Given the description of an element on the screen output the (x, y) to click on. 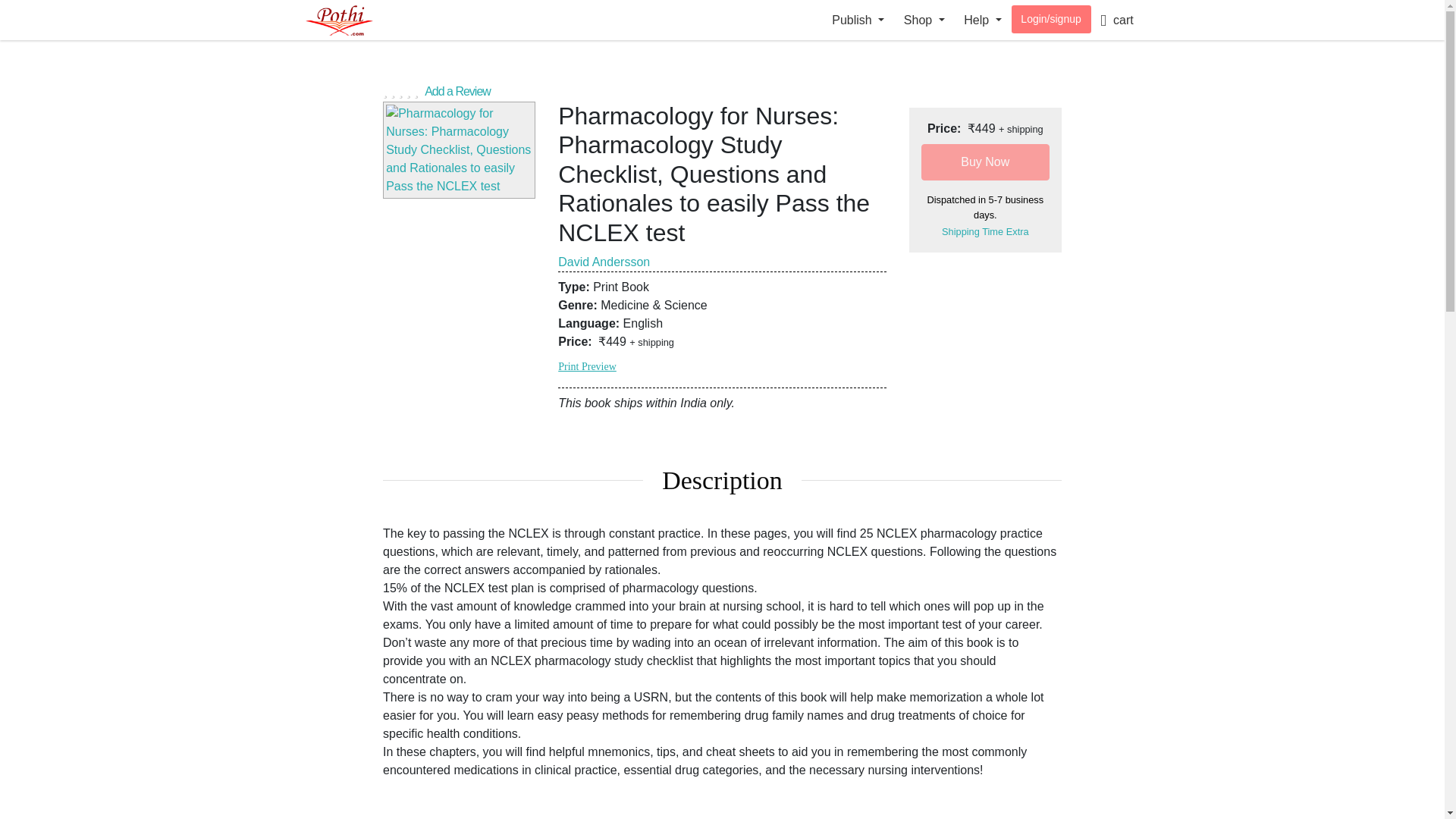
pothi.com (354, 20)
Help (983, 20)
Shipping Time Extra (985, 231)
Add a Review (721, 89)
Shop (923, 20)
Publish (857, 20)
Preview the book (458, 150)
Print Preview (586, 366)
  cart (1116, 20)
Buy Now (985, 162)
